Given the description of an element on the screen output the (x, y) to click on. 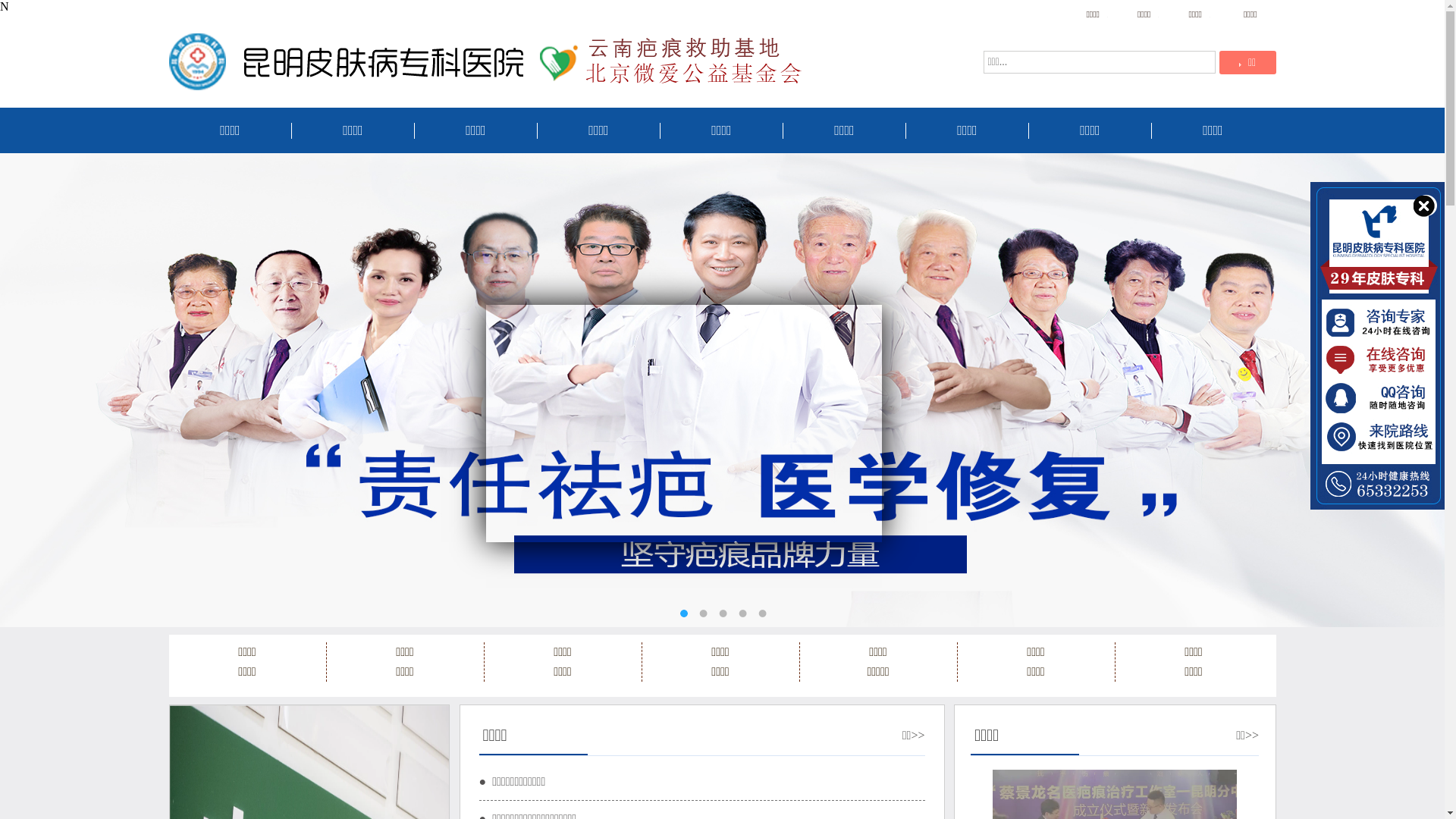
Next Element type: text (420, 744)
Prev Element type: text (197, 744)
